Given the description of an element on the screen output the (x, y) to click on. 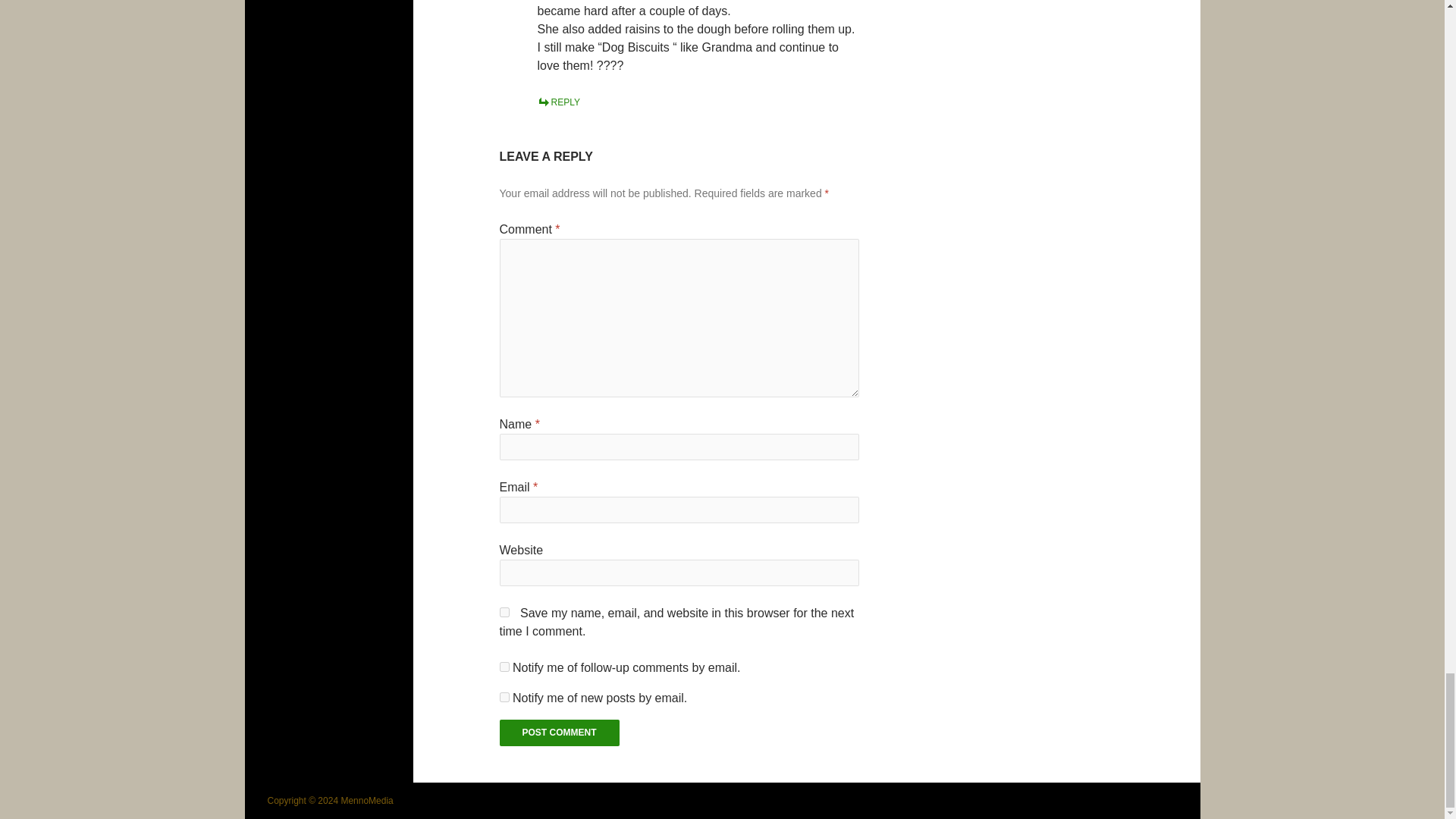
subscribe (504, 666)
Post Comment (559, 732)
subscribe (504, 696)
yes (504, 612)
